Given the description of an element on the screen output the (x, y) to click on. 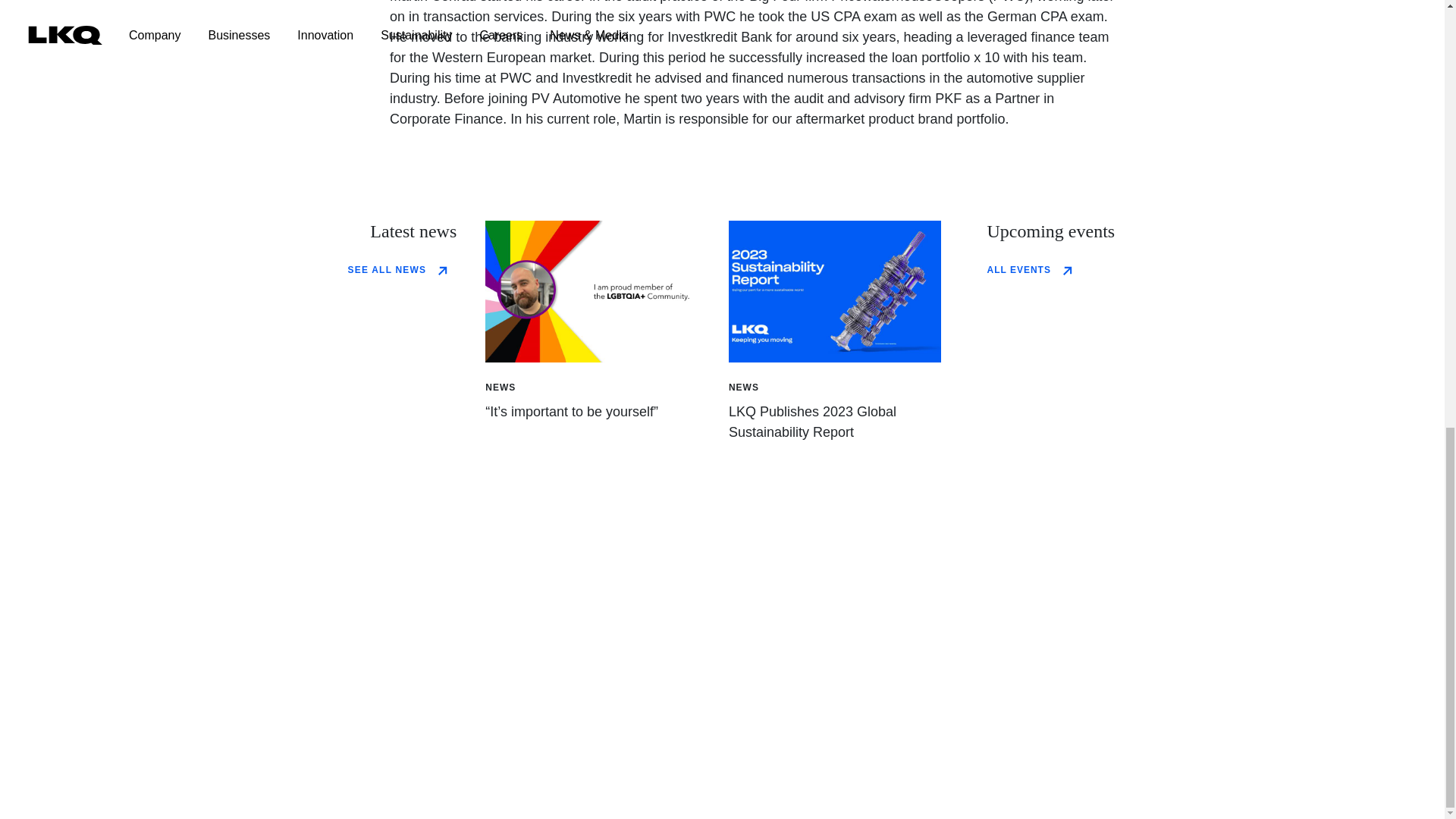
Dominique Reijman (591, 291)
